Given the description of an element on the screen output the (x, y) to click on. 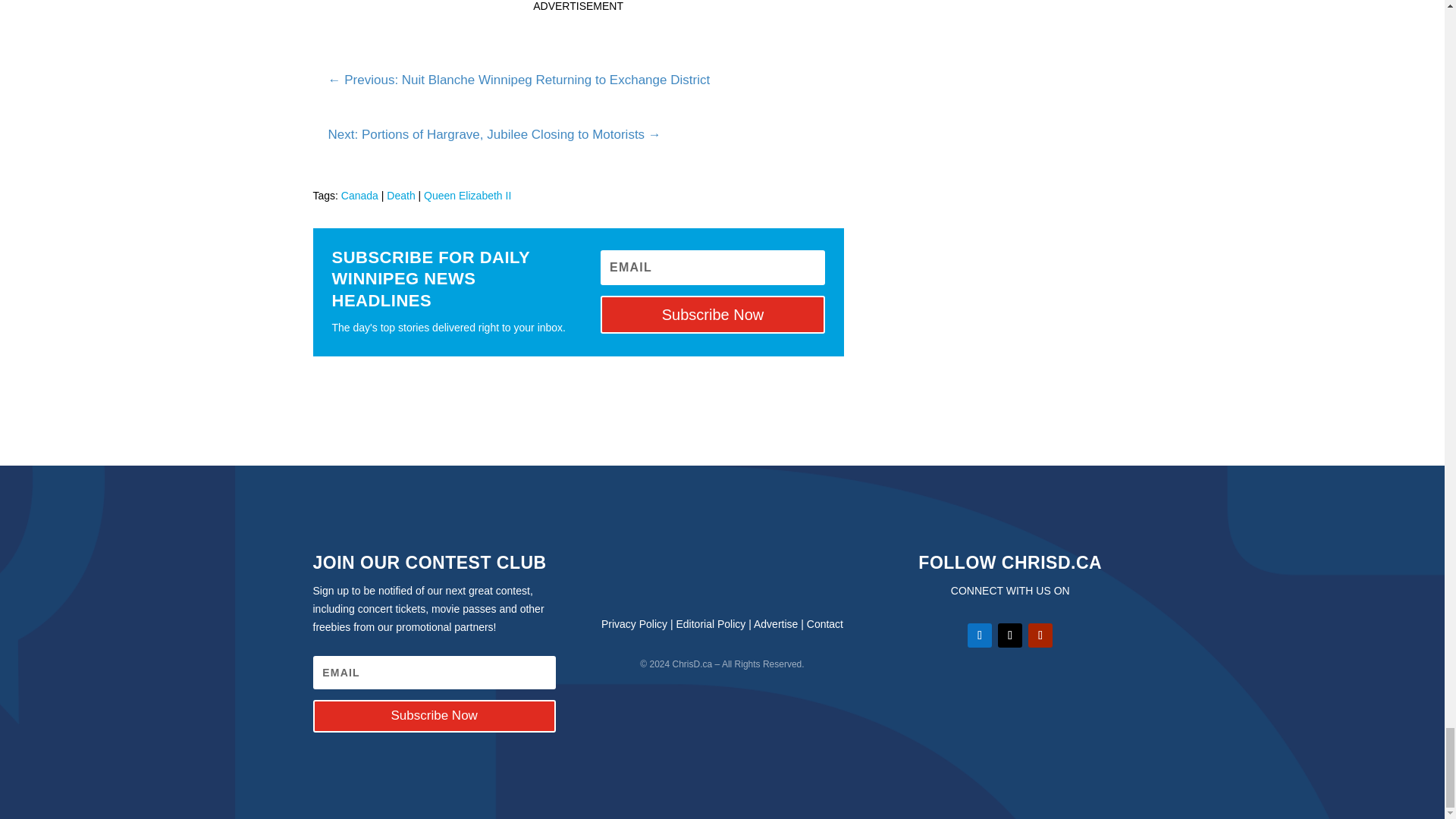
chrisd-logo-footer-300x92 (722, 572)
